Given the description of an element on the screen output the (x, y) to click on. 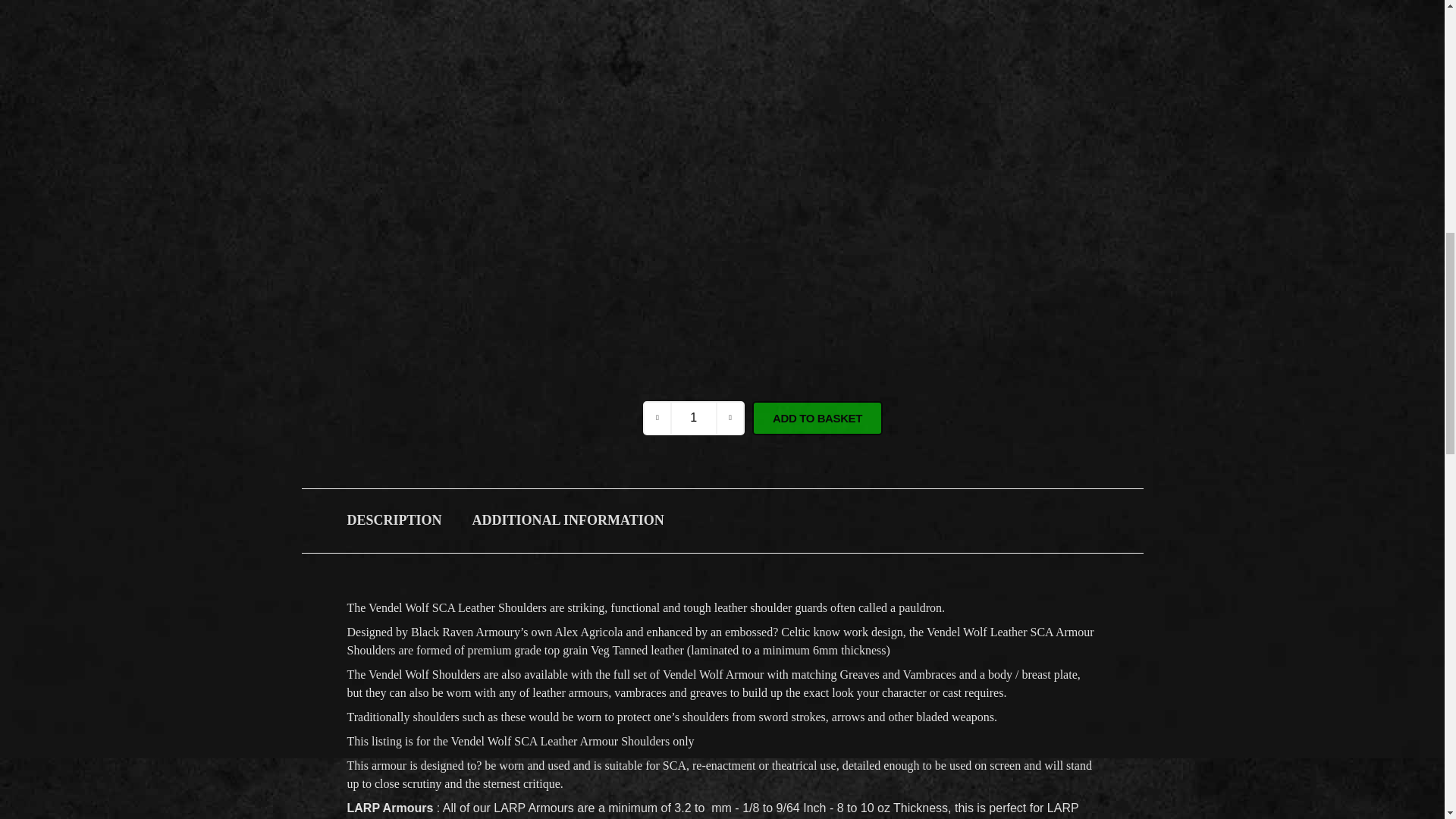
ADDITIONAL INFORMATION (567, 519)
1 (693, 417)
ADD TO BASKET (817, 417)
DESCRIPTION (394, 519)
